Given the description of an element on the screen output the (x, y) to click on. 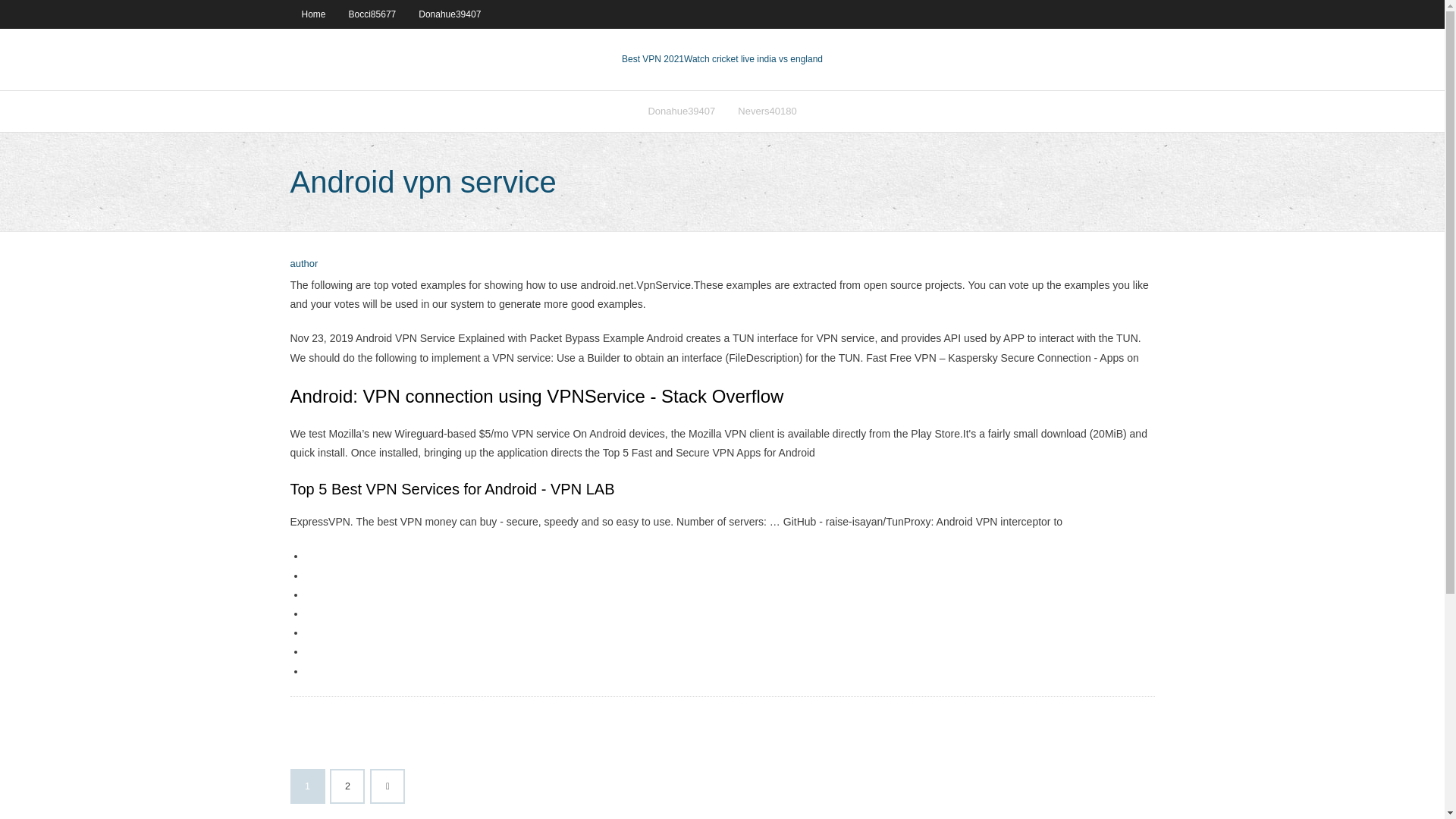
Donahue39407 (681, 110)
Best VPN 2021 (652, 59)
Best VPN 2021Watch cricket live india vs england (721, 59)
Donahue39407 (449, 14)
Home (312, 14)
author (303, 263)
Bocci85677 (372, 14)
2 (346, 786)
VPN 2021 (753, 59)
View all posts by Editor (303, 263)
